Given the description of an element on the screen output the (x, y) to click on. 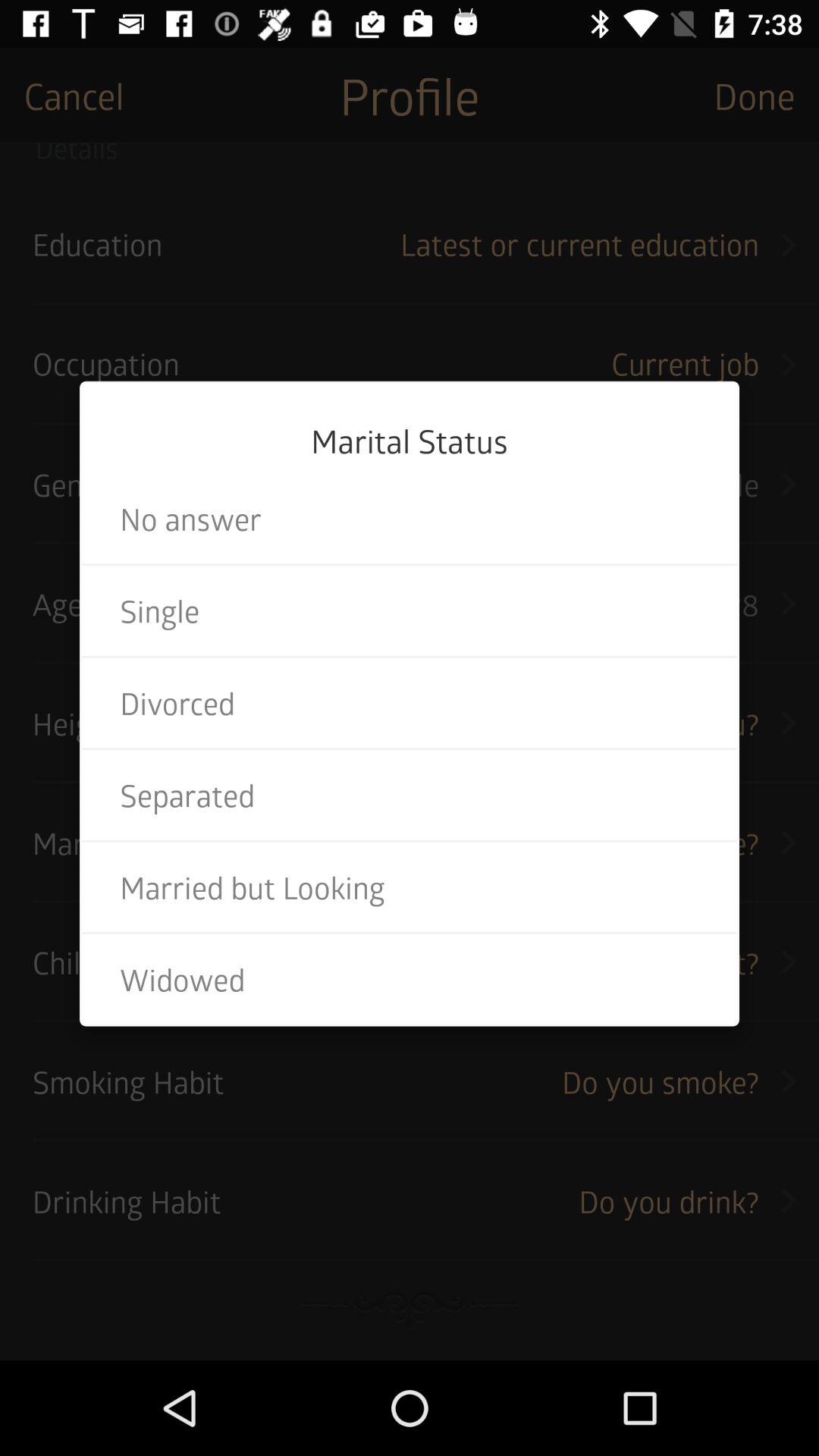
swipe until the separated item (409, 795)
